Given the description of an element on the screen output the (x, y) to click on. 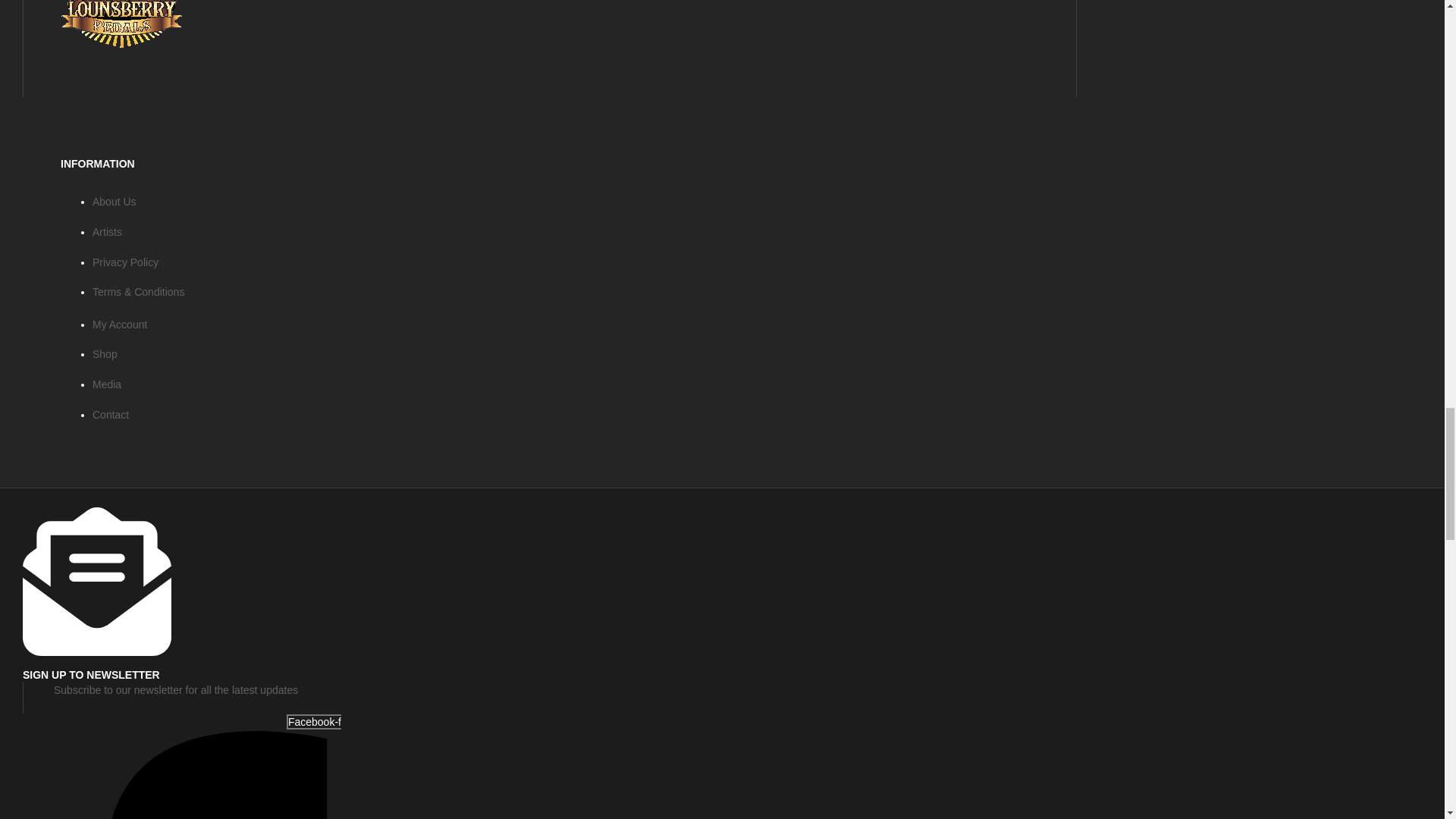
Contact (111, 414)
About Us (114, 201)
Media (106, 384)
Facebook-f (182, 766)
Privacy Policy (125, 262)
My Account (120, 324)
Artists (107, 232)
Shop (105, 354)
